Given the description of an element on the screen output the (x, y) to click on. 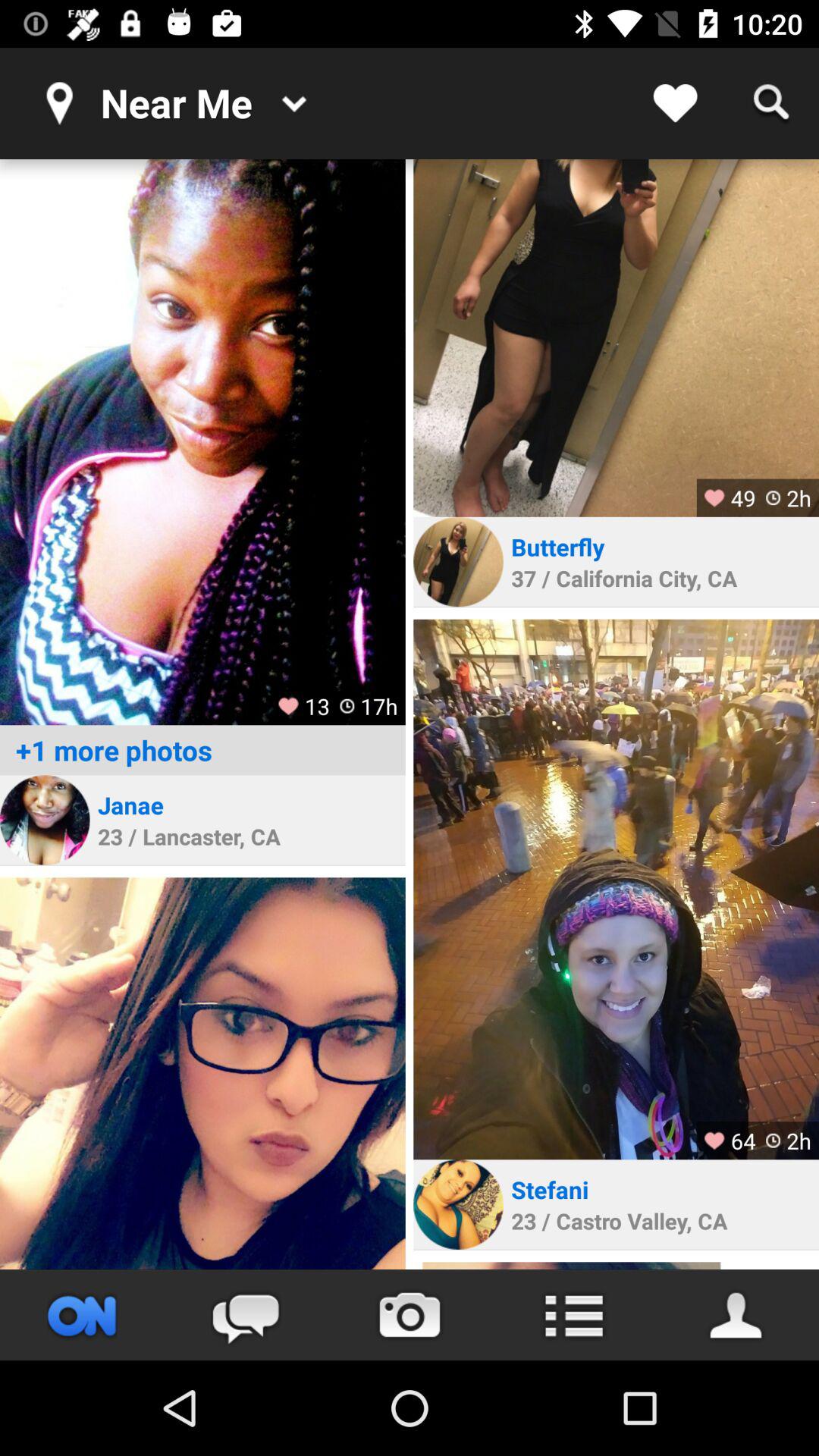
view photo (616, 889)
